Given the description of an element on the screen output the (x, y) to click on. 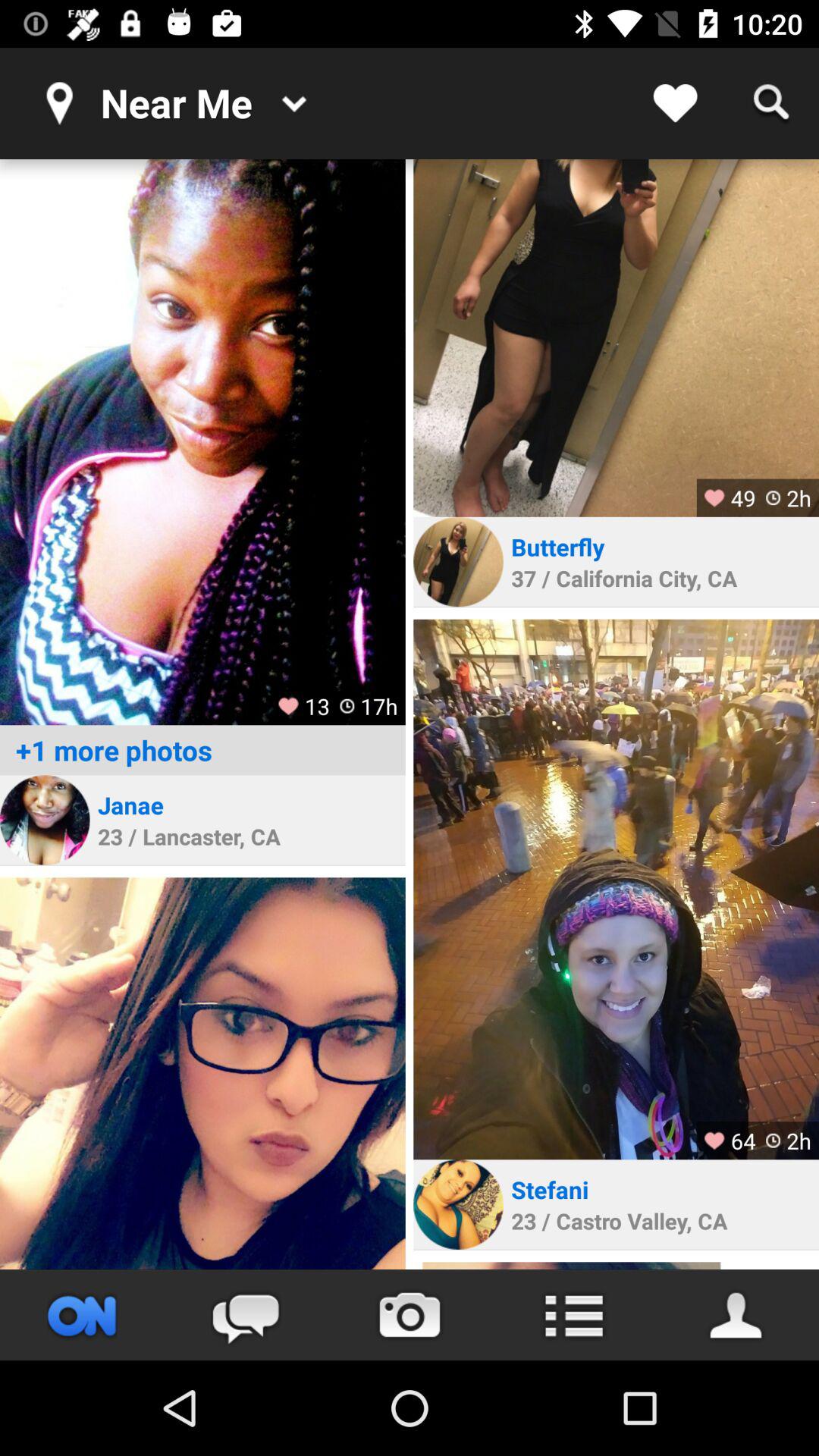
view photo (616, 889)
